Given the description of an element on the screen output the (x, y) to click on. 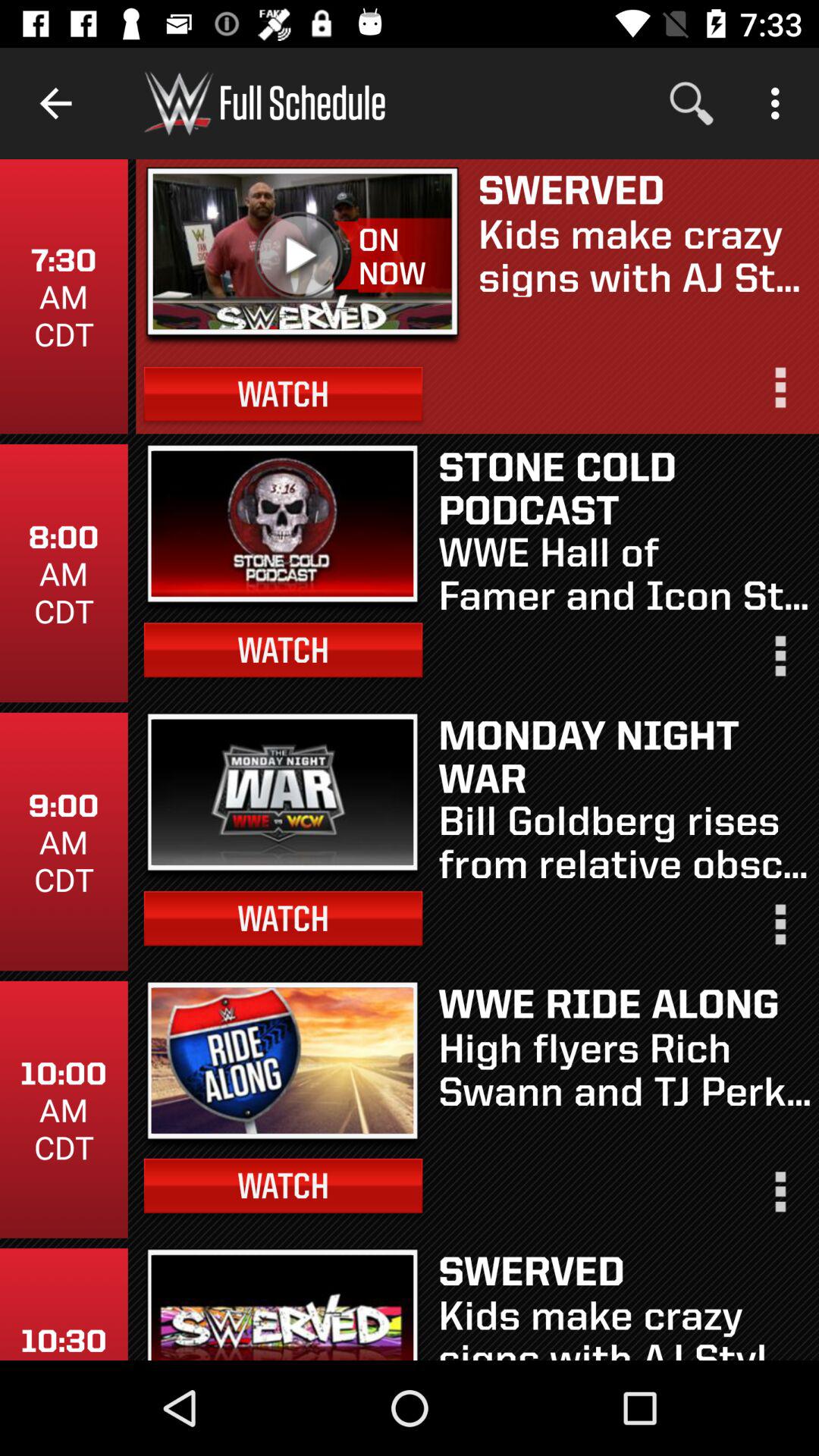
select item above the bill goldberg rises icon (624, 754)
